Given the description of an element on the screen output the (x, y) to click on. 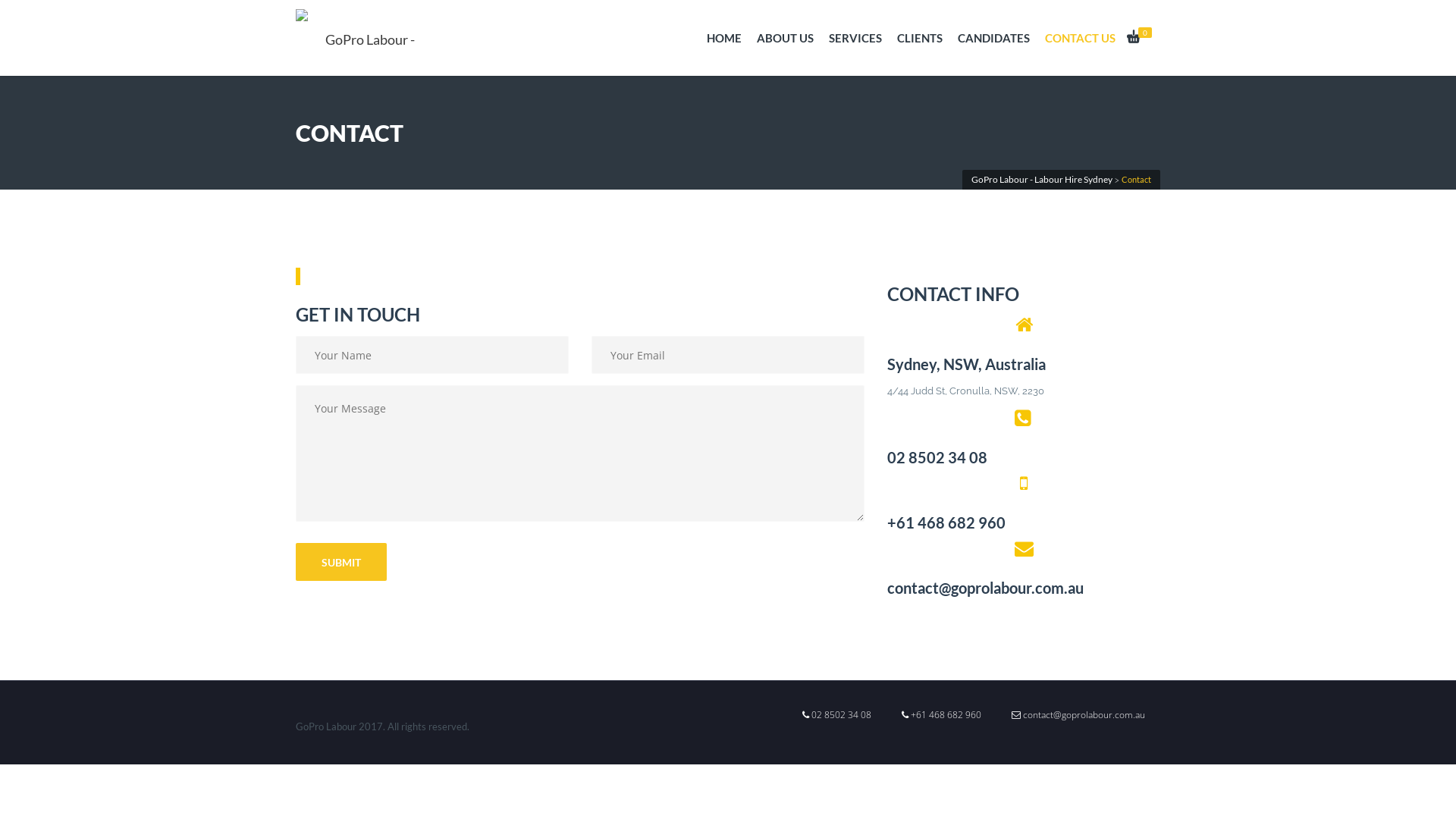
CLIENTS Element type: text (919, 37)
SERVICES Element type: text (855, 37)
0 Element type: text (1141, 37)
contact@goprolabour.com.au Element type: text (1078, 714)
HOME Element type: text (724, 37)
CONTACT US Element type: text (1080, 37)
SUBMIT Element type: text (340, 561)
ABOUT US Element type: text (785, 37)
+61 468 682 960 Element type: text (941, 714)
contact@goprolabour.com.au Element type: text (1023, 587)
02 8502 34 08 Element type: text (836, 714)
CANDIDATES Element type: text (993, 37)
GoPro Labour - Labour Hire Sydney Element type: text (1041, 179)
